Given the description of an element on the screen output the (x, y) to click on. 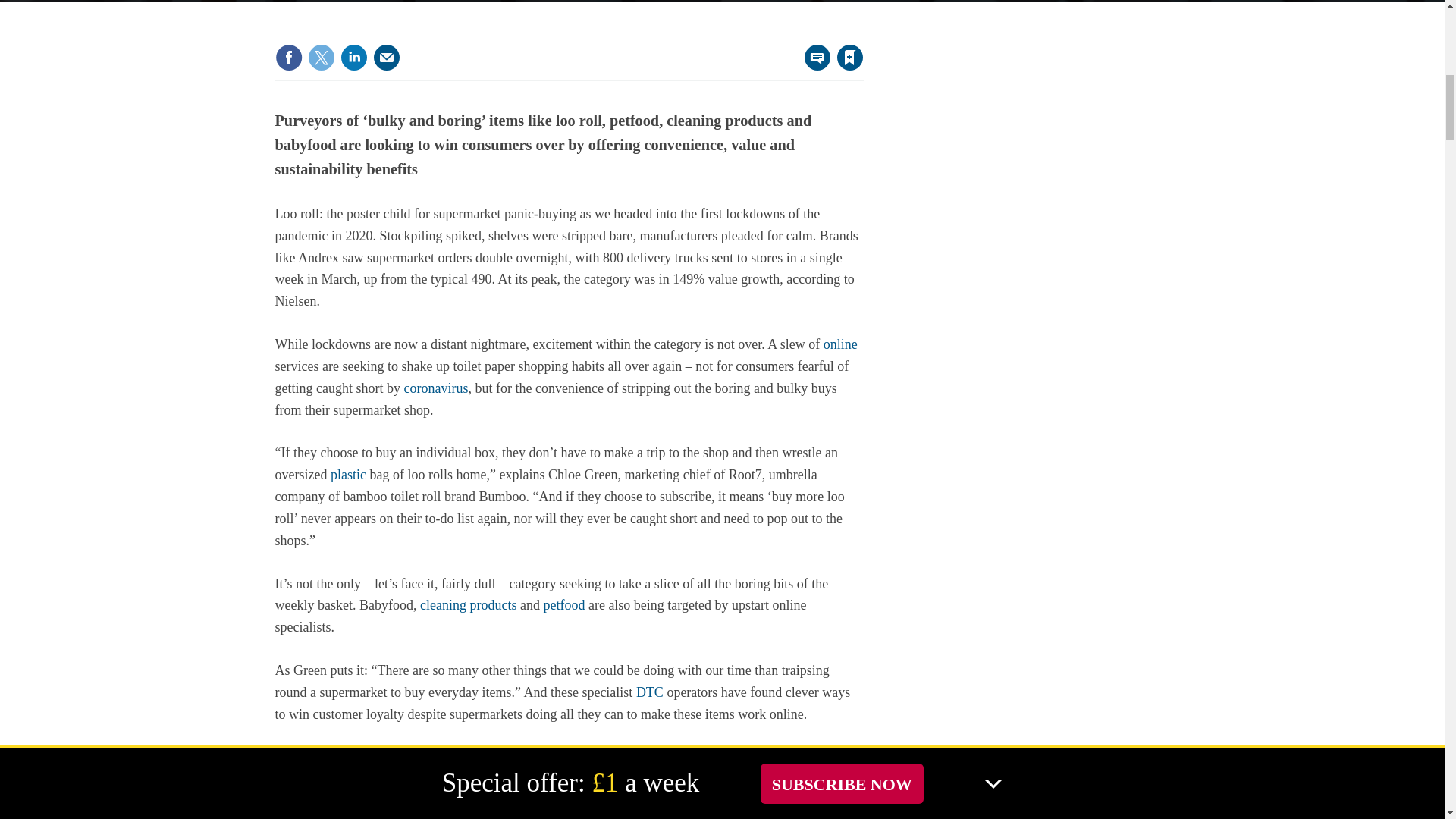
Email this article (386, 57)
Share this on Facebook (288, 57)
Share this on Twitter (320, 57)
No comments (812, 66)
Share this on Linked in (352, 57)
